Given the description of an element on the screen output the (x, y) to click on. 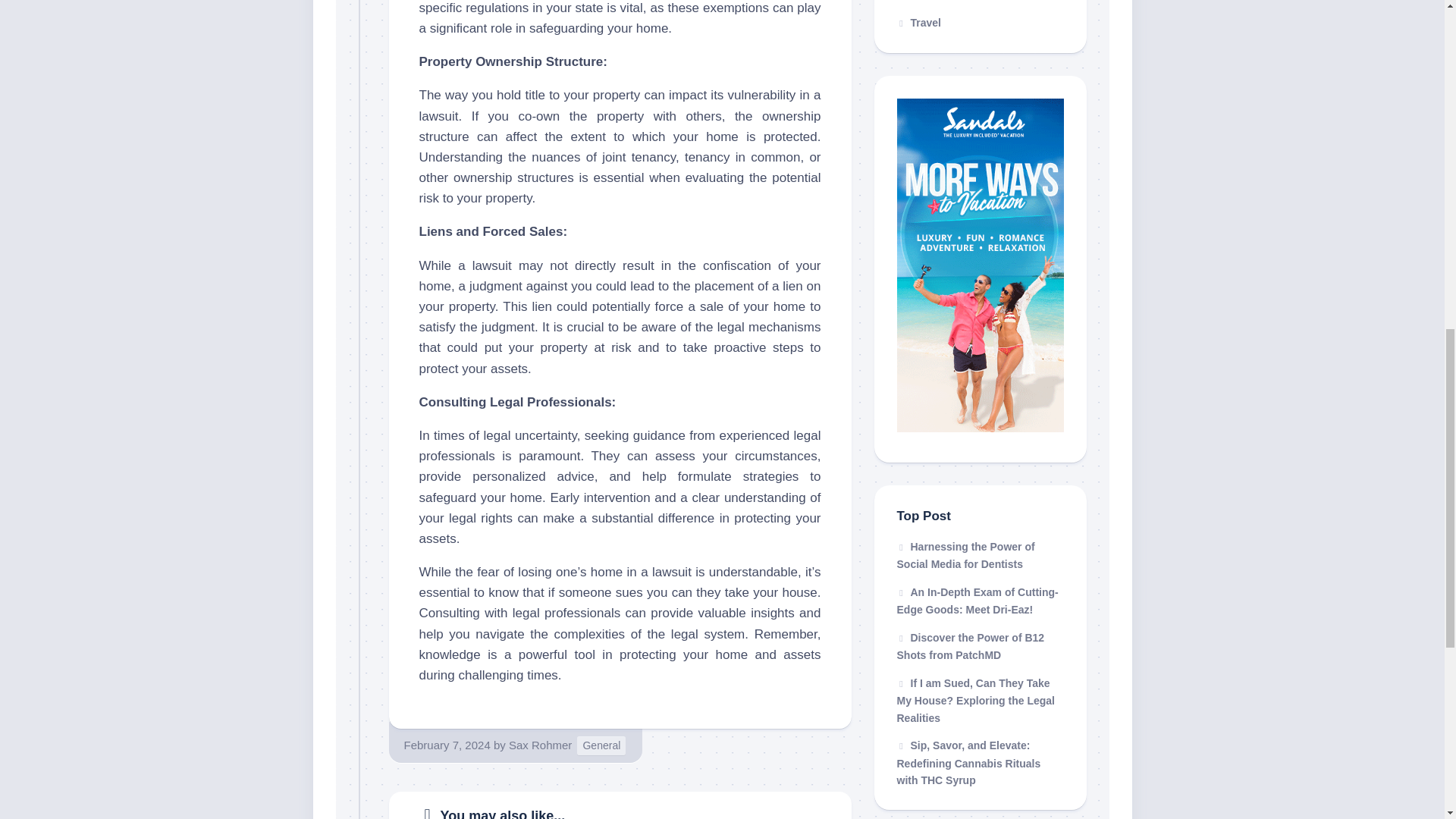
General (601, 745)
Posts by Sax Rohmer (540, 744)
Sax Rohmer (540, 744)
